Given the description of an element on the screen output the (x, y) to click on. 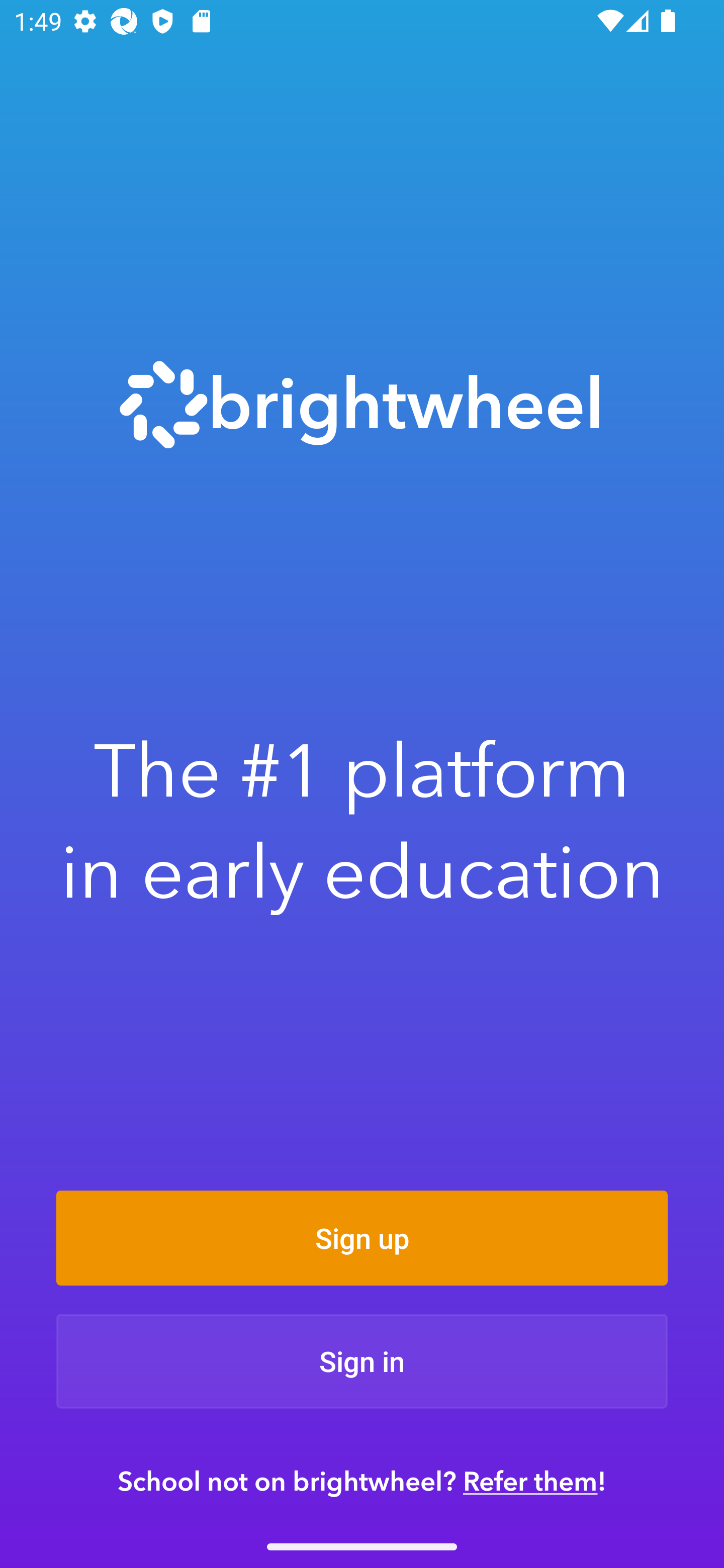
Sign up (361, 1237)
Sign in (361, 1360)
School not on brightwheel? Refer them! (361, 1480)
